Given the description of an element on the screen output the (x, y) to click on. 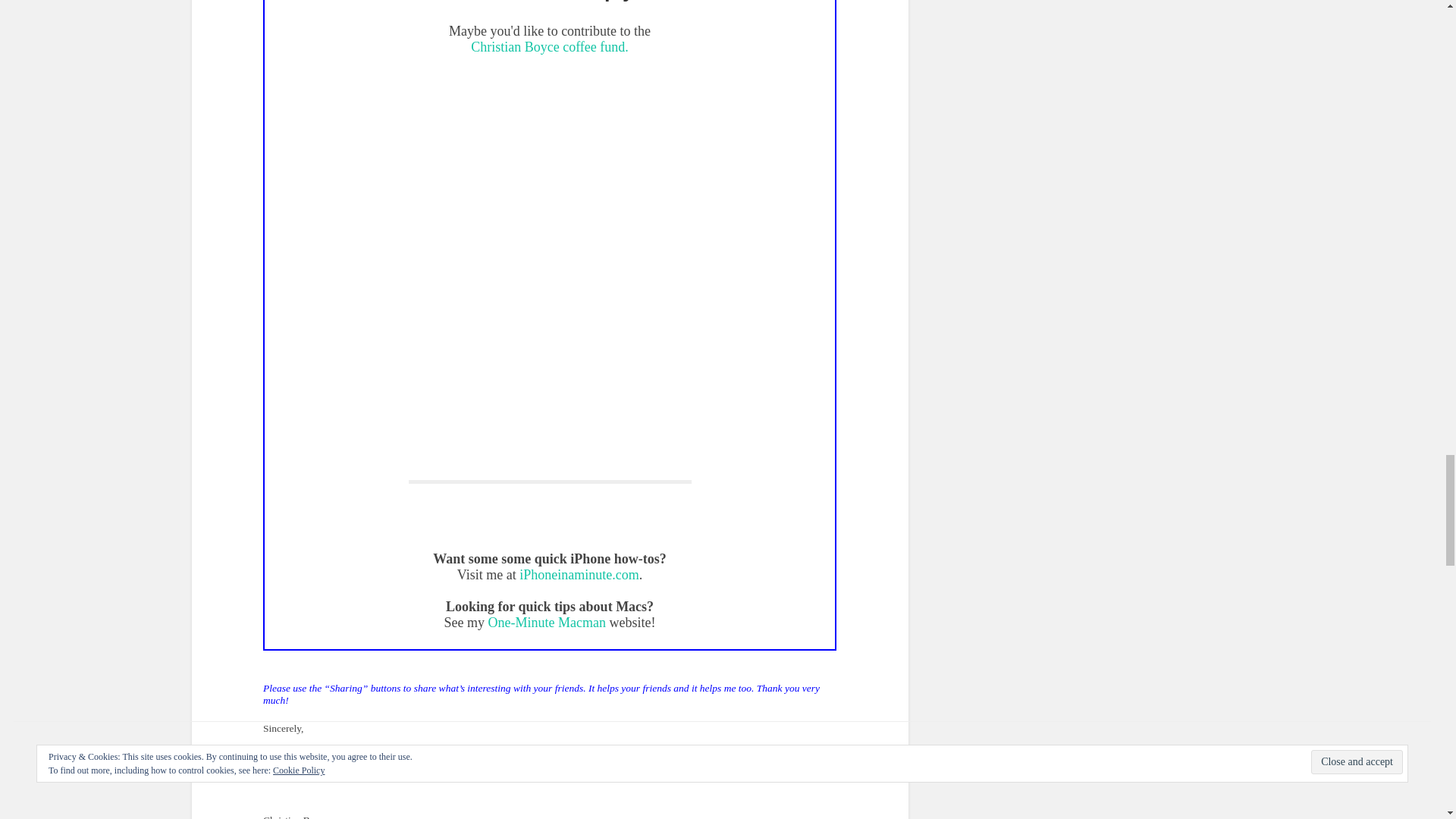
iPhoneinaminute.com (579, 574)
Please Share; (549, 694)
Christian Boyce coffee fund. (549, 46)
One-Minute Macman (546, 622)
